Given the description of an element on the screen output the (x, y) to click on. 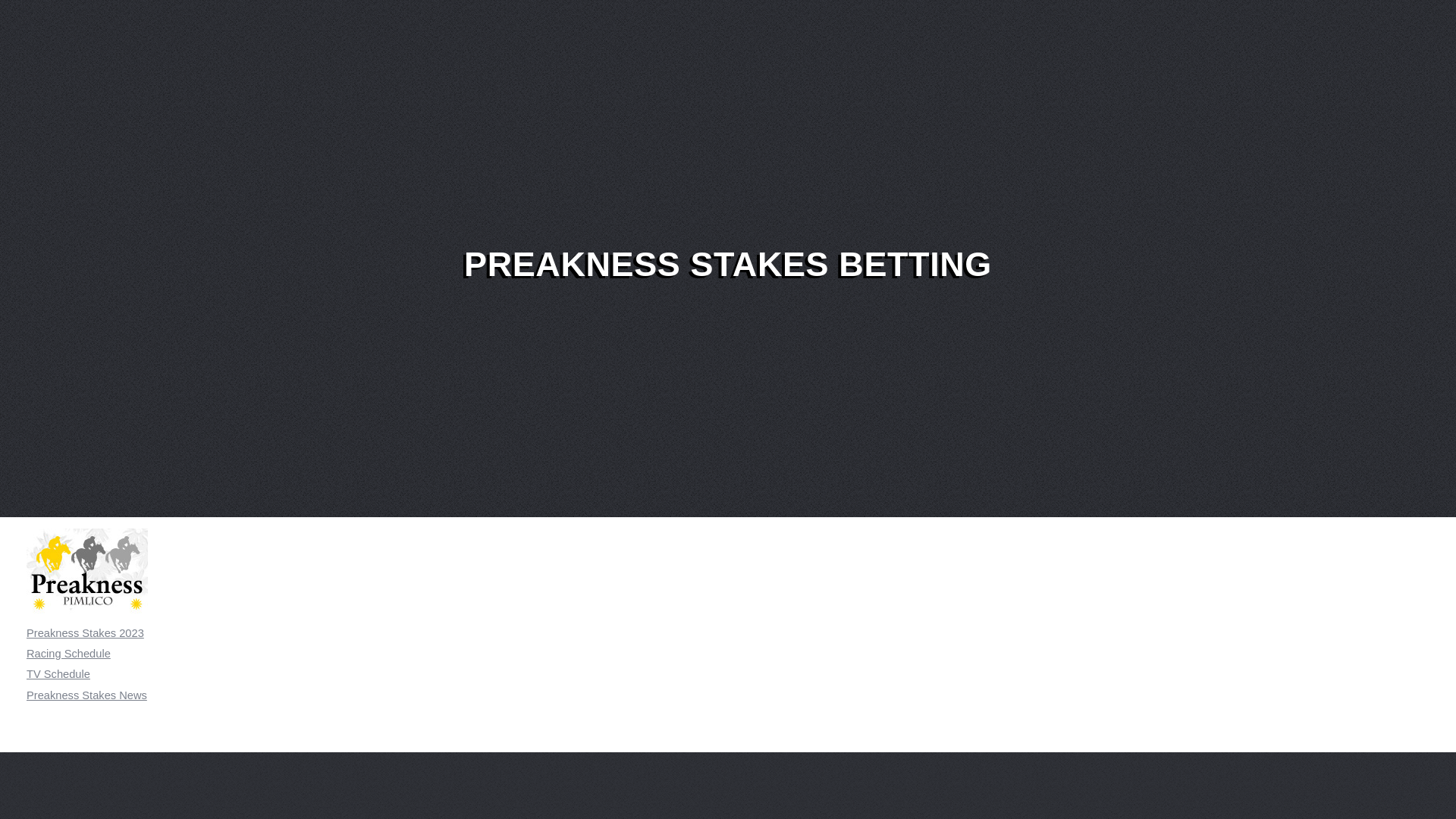
Racing Schedule (68, 653)
TV Schedule (58, 674)
Preakness Stakes 2023 (85, 633)
Preakness Stakes News (86, 695)
Preakness Stakes Betting (87, 572)
